Given the description of an element on the screen output the (x, y) to click on. 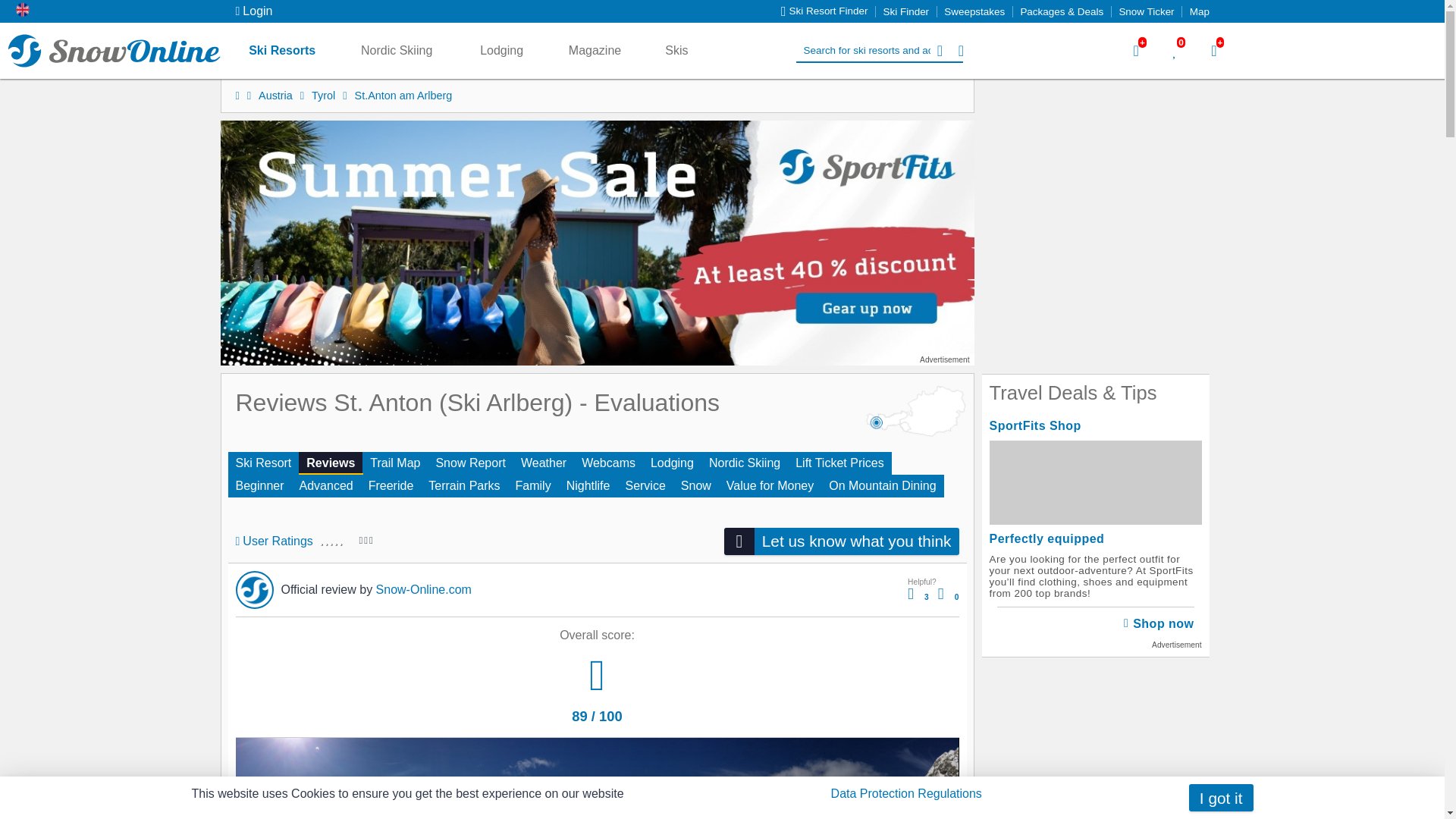
Weather (543, 463)
User Ratings (273, 541)
Terrain Parks (463, 486)
3 (917, 597)
Snow-Online.com (114, 50)
Snow Report (470, 463)
Lodging (672, 463)
Beginner (259, 486)
Advanced (326, 486)
On Mountain Dining (882, 486)
